Given the description of an element on the screen output the (x, y) to click on. 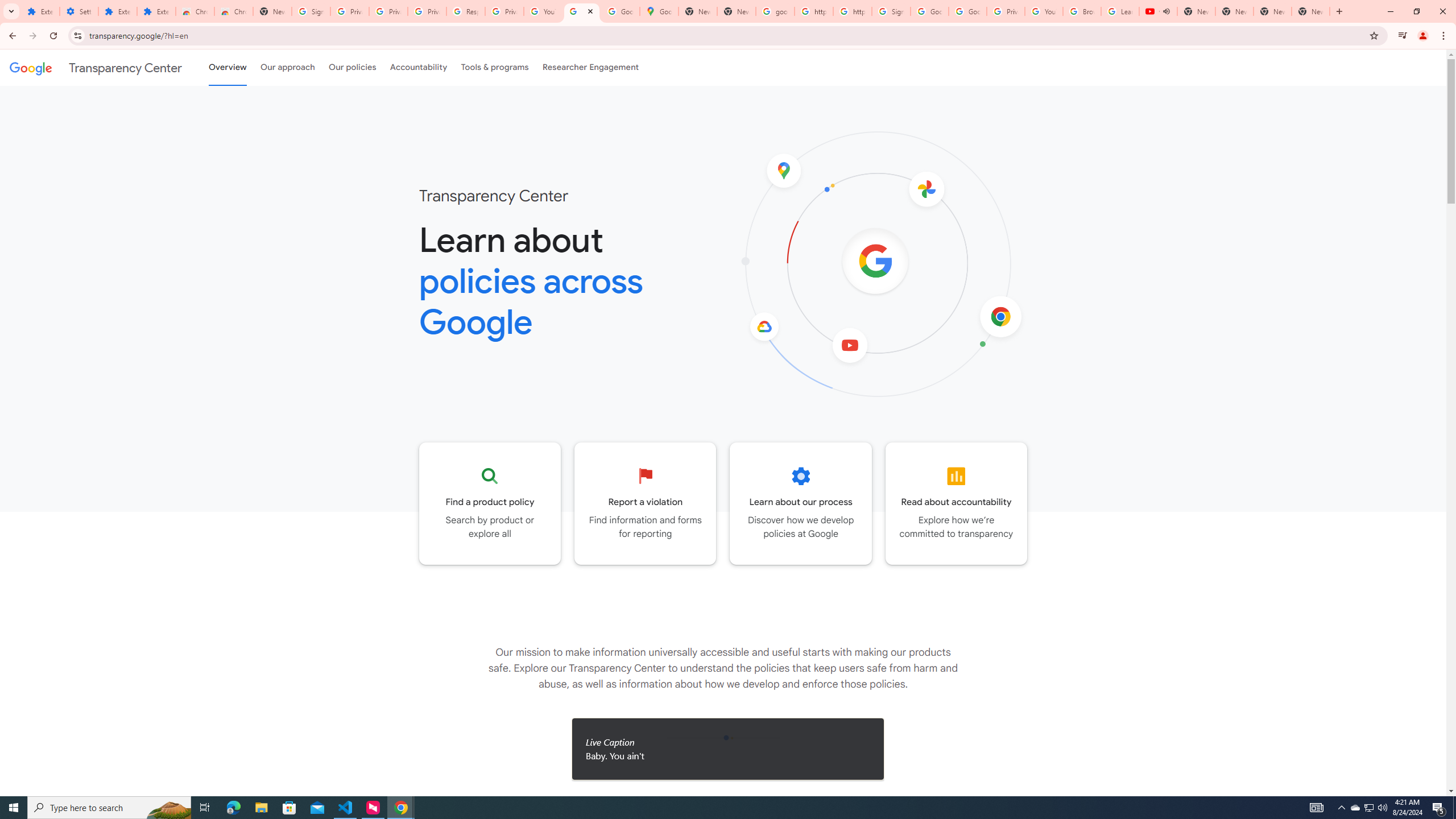
https://scholar.google.com/ (852, 11)
YouTube (542, 11)
Researcher Engagement (590, 67)
Transparency Center (95, 67)
Go to the Our process page (800, 503)
Chrome Web Store - Themes (233, 11)
